Given the description of an element on the screen output the (x, y) to click on. 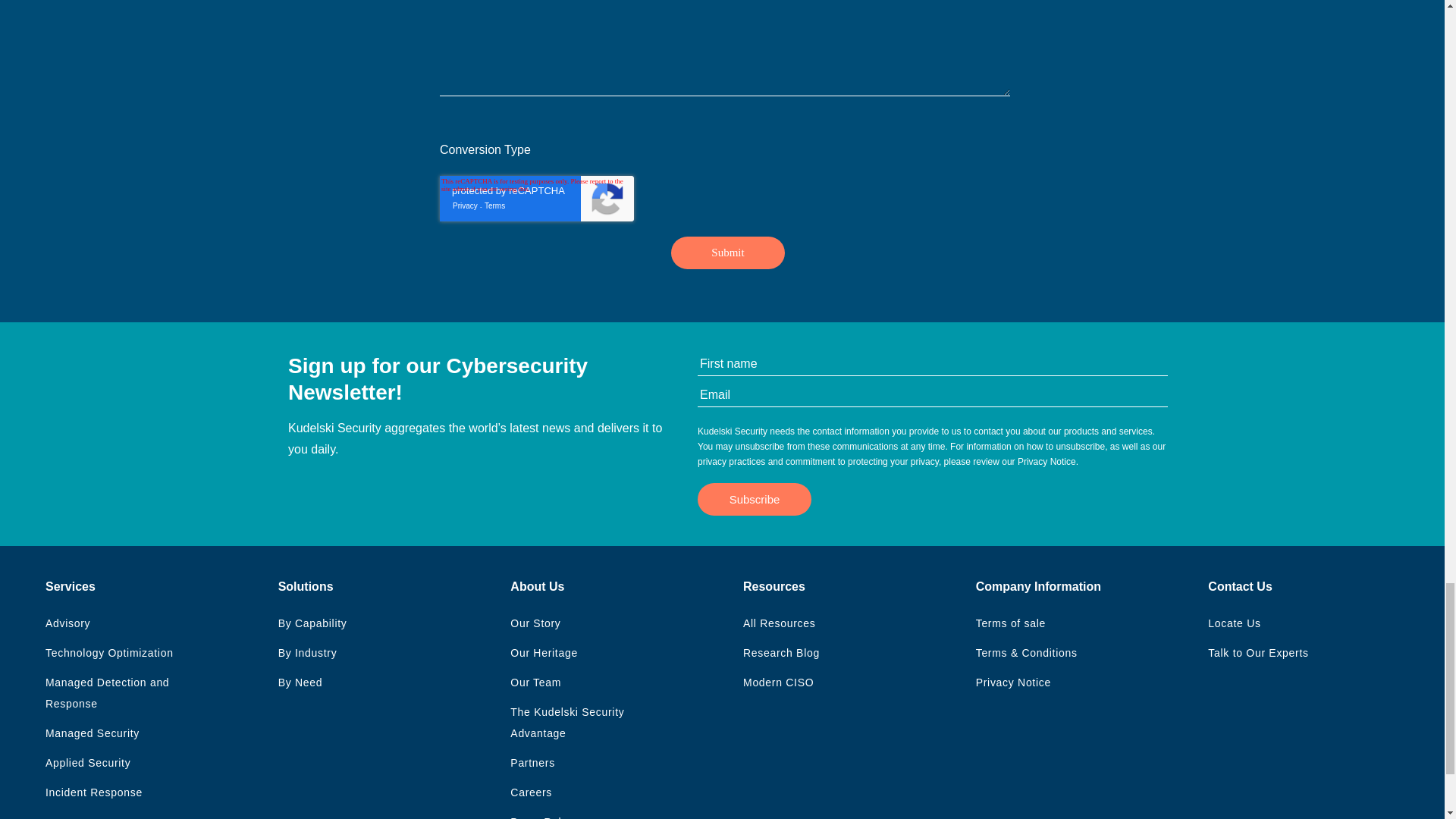
Submit (727, 252)
Subscribe (753, 499)
reCAPTCHA (536, 198)
